Given the description of an element on the screen output the (x, y) to click on. 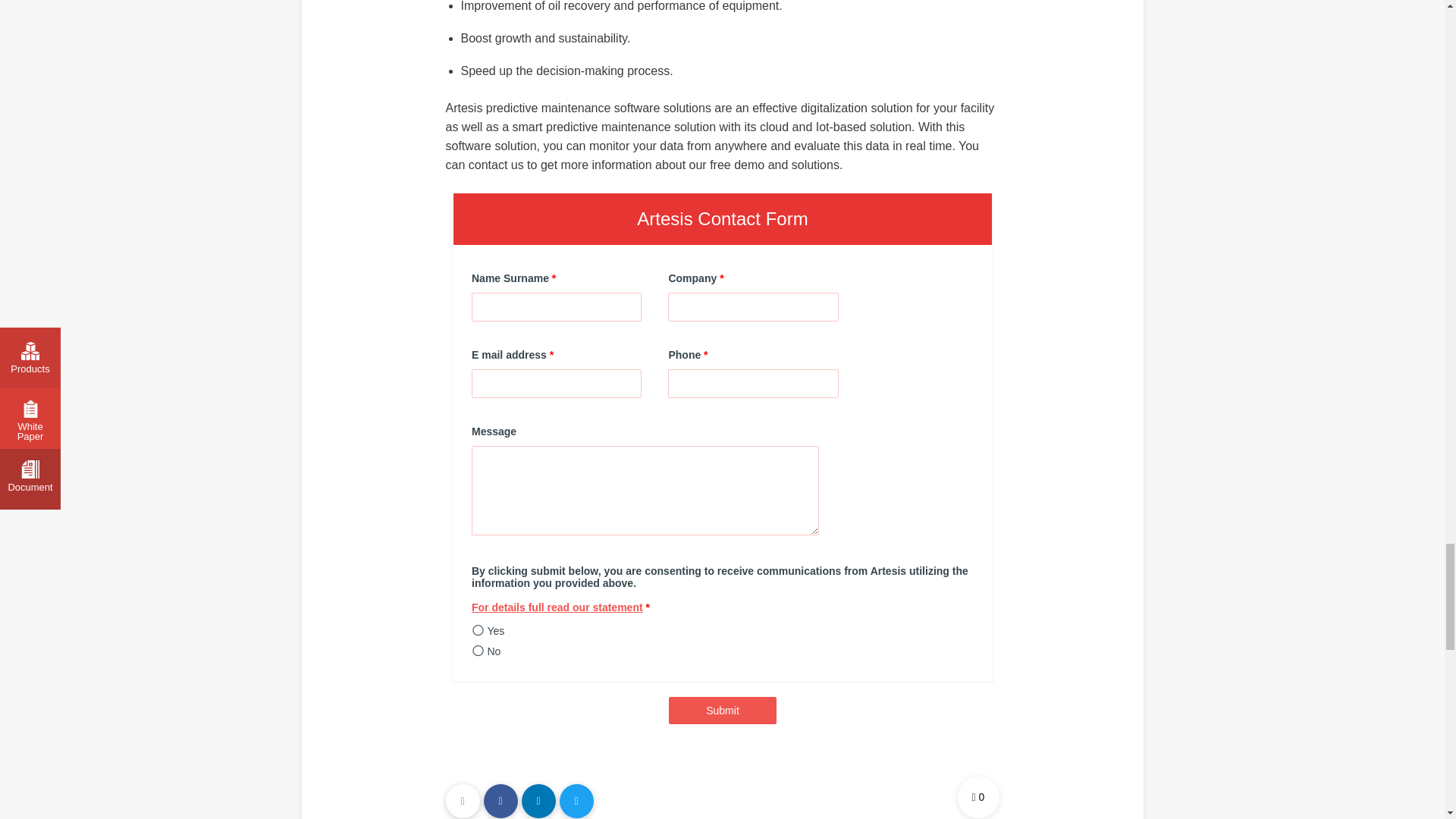
Twitter (576, 800)
Facebook (500, 800)
Linkedin (538, 800)
